Given the description of an element on the screen output the (x, y) to click on. 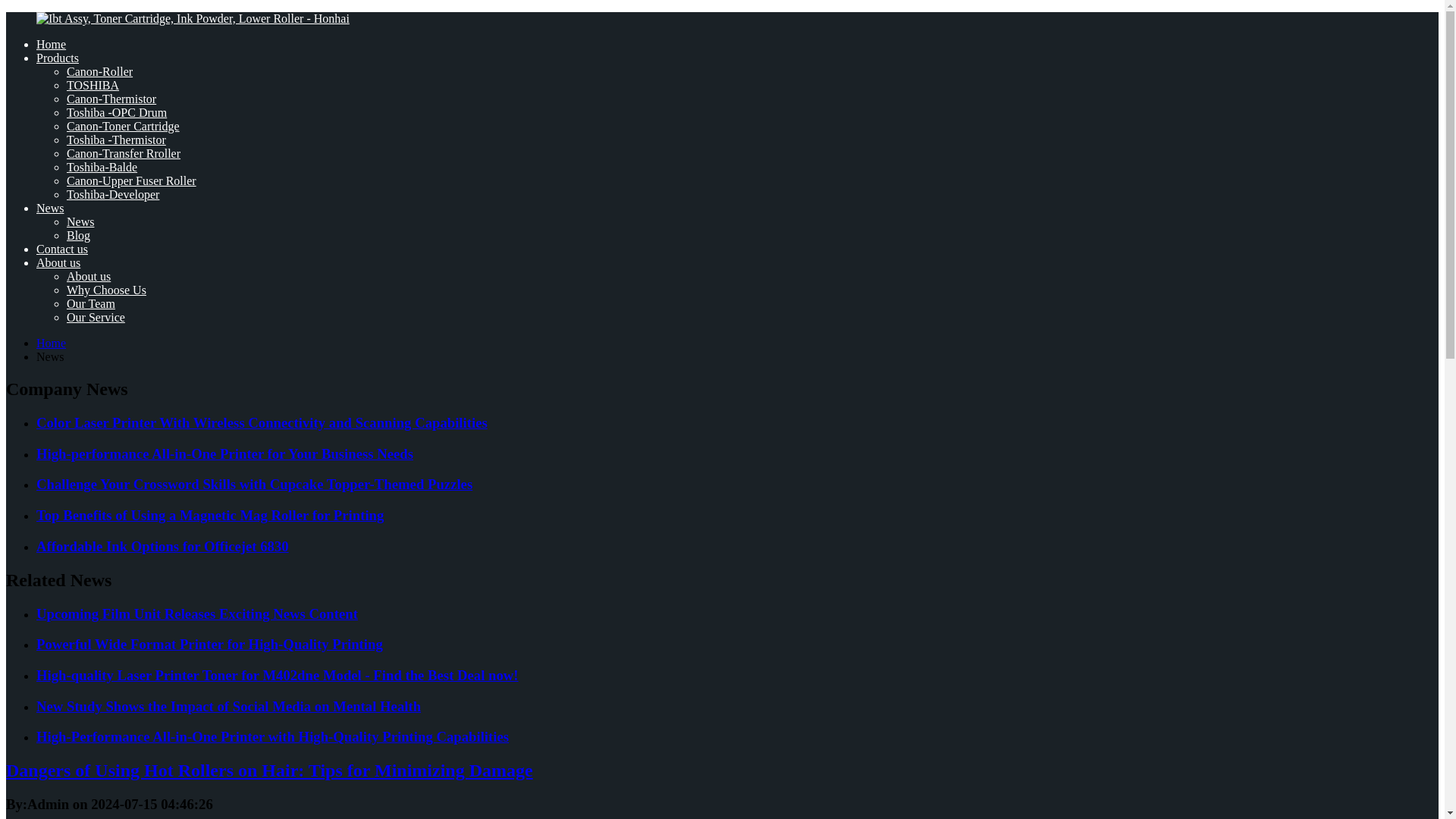
Canon-Roller (99, 71)
Toshiba-Developer (112, 194)
Canon-Thermistor (110, 98)
Home (50, 43)
Home (50, 342)
About us (58, 262)
Canon-Upper Fuser Roller (131, 180)
Blog (78, 235)
About us (88, 276)
Canon-Toner Cartridge (122, 125)
Products (57, 57)
News (80, 221)
Toshiba -Thermistor (115, 139)
Toshiba-Balde (101, 166)
